Given the description of an element on the screen output the (x, y) to click on. 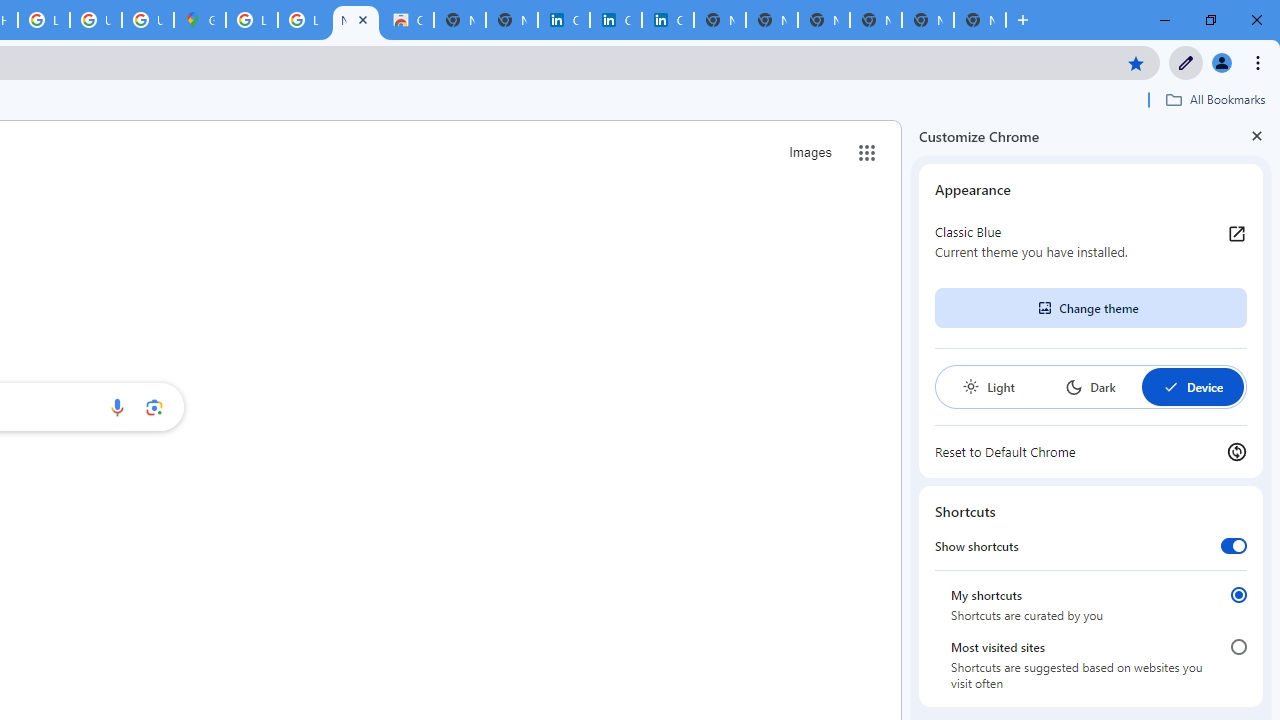
Dark (1090, 386)
Copyright Policy (667, 20)
Change theme (1090, 308)
